Given the description of an element on the screen output the (x, y) to click on. 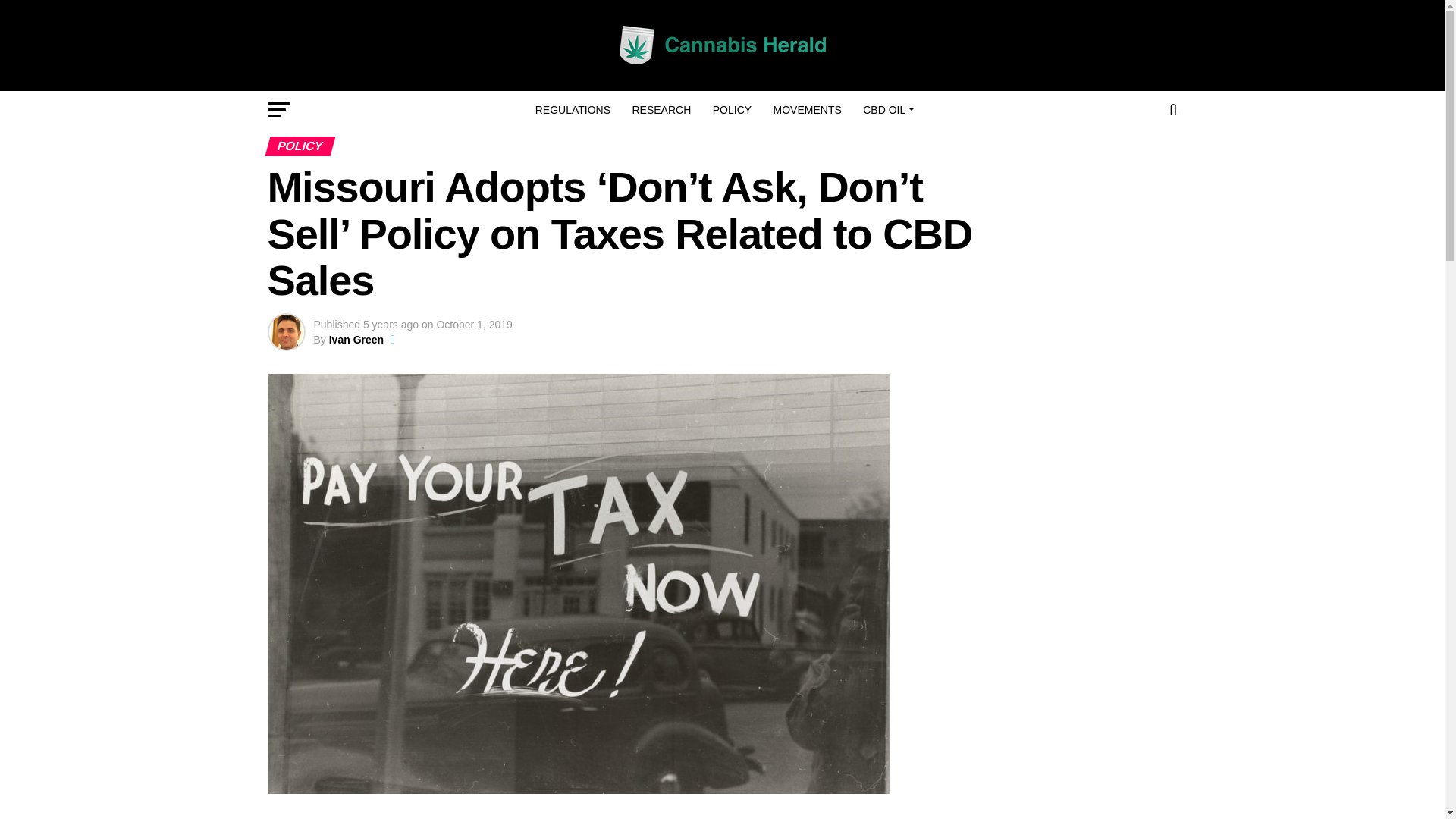
Posts by Ivan Green (356, 339)
